Given the description of an element on the screen output the (x, y) to click on. 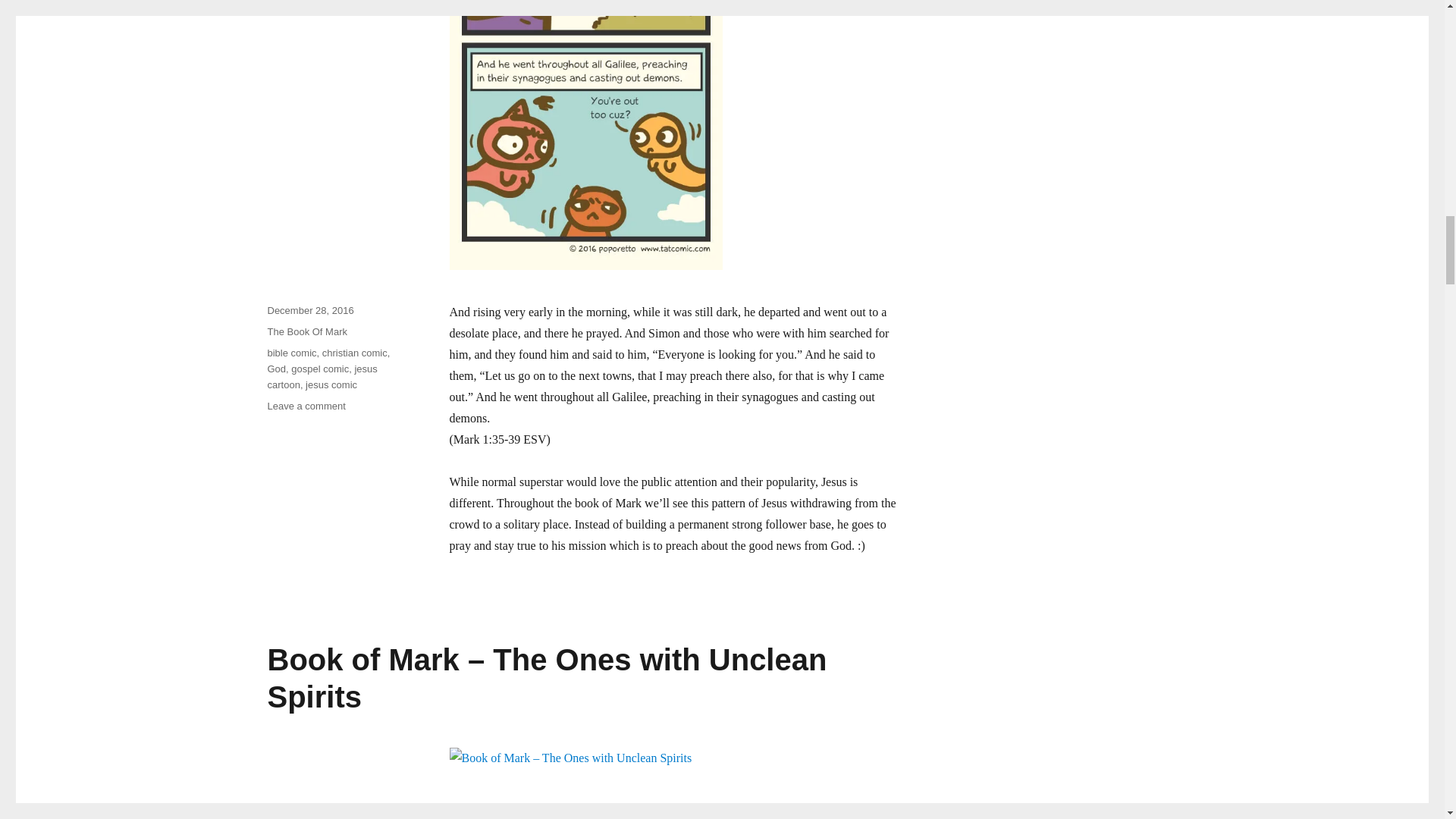
jesus comic (330, 384)
christian comic (354, 352)
December 28, 2016 (309, 310)
bible comic (290, 352)
The Book Of Mark (306, 331)
God (275, 368)
gospel comic (320, 368)
jesus cartoon (321, 376)
